Given the description of an element on the screen output the (x, y) to click on. 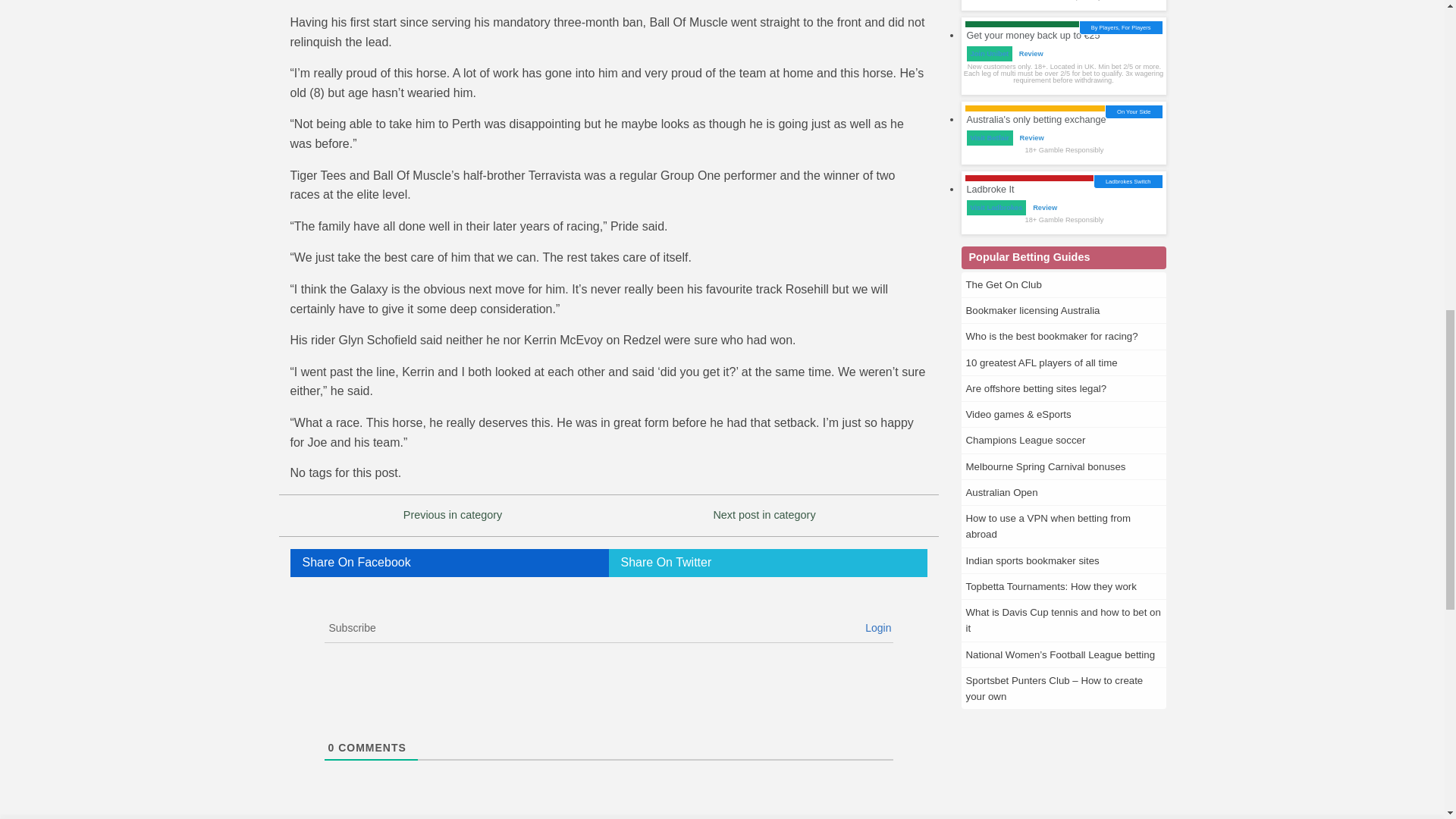
Share On Twitter (767, 562)
Share On Facebook (448, 562)
Login (877, 627)
Previous in category (452, 514)
Next post in category (764, 514)
